Given the description of an element on the screen output the (x, y) to click on. 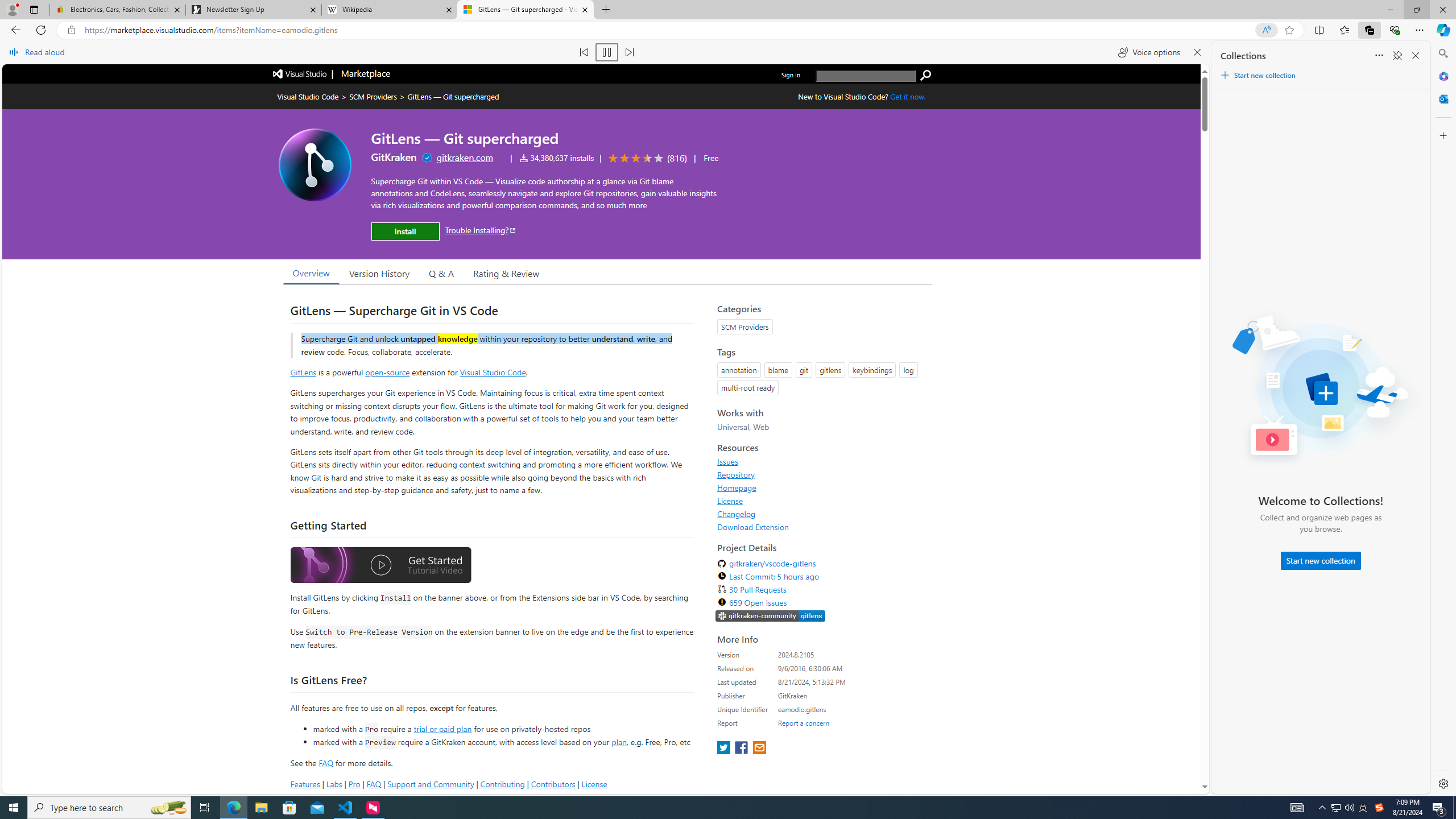
https://slack.gitkraken.com// (769, 617)
Get Visual Studio Code Now (907, 96)
Features (304, 783)
Repository (735, 474)
Issues (727, 461)
share extension on email (759, 748)
Pro (354, 783)
Watch the GitLens Getting Started video (380, 565)
Close read aloud (1196, 52)
Voice options (1149, 52)
